Given the description of an element on the screen output the (x, y) to click on. 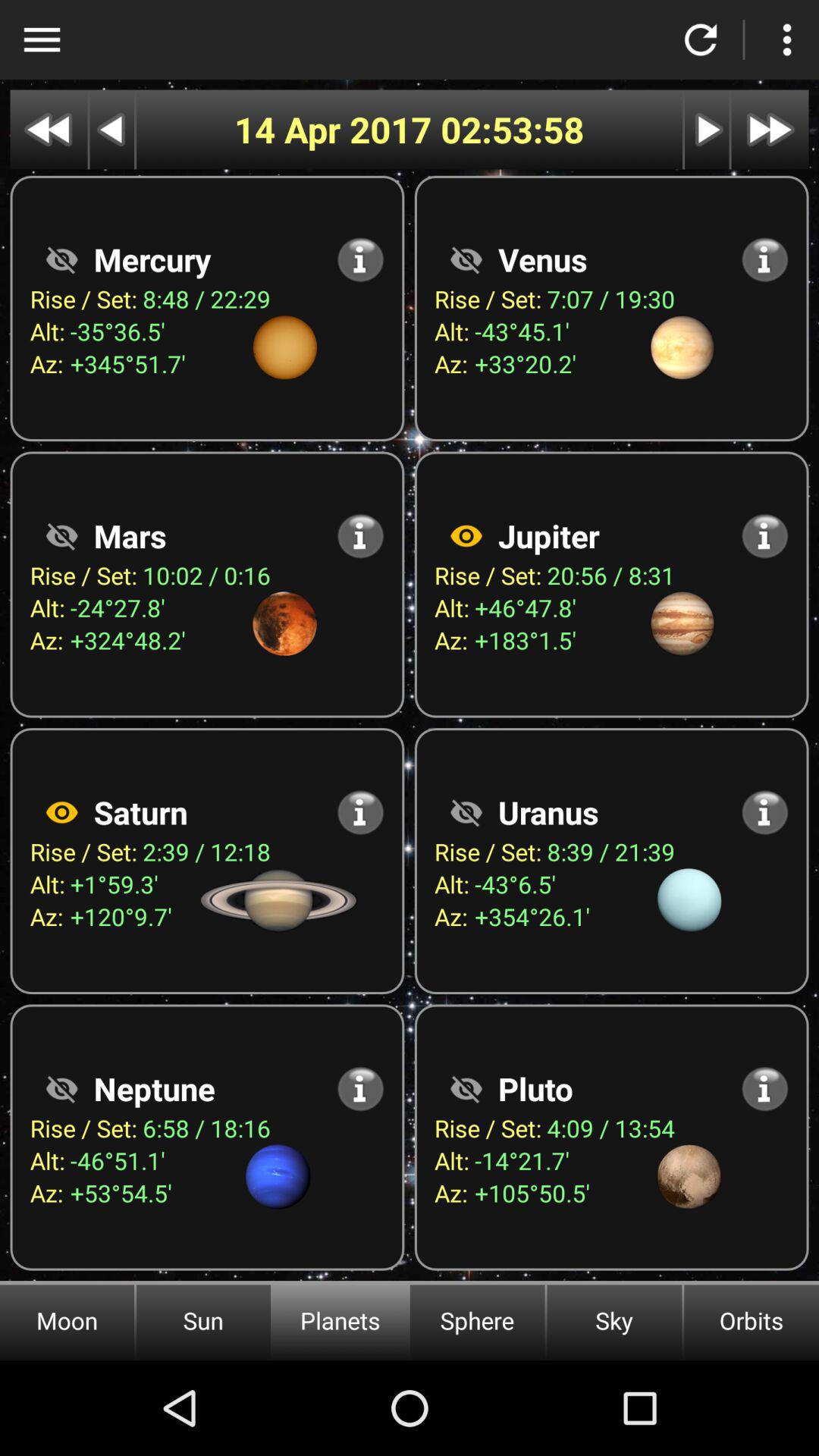
show menu (41, 39)
